Given the description of an element on the screen output the (x, y) to click on. 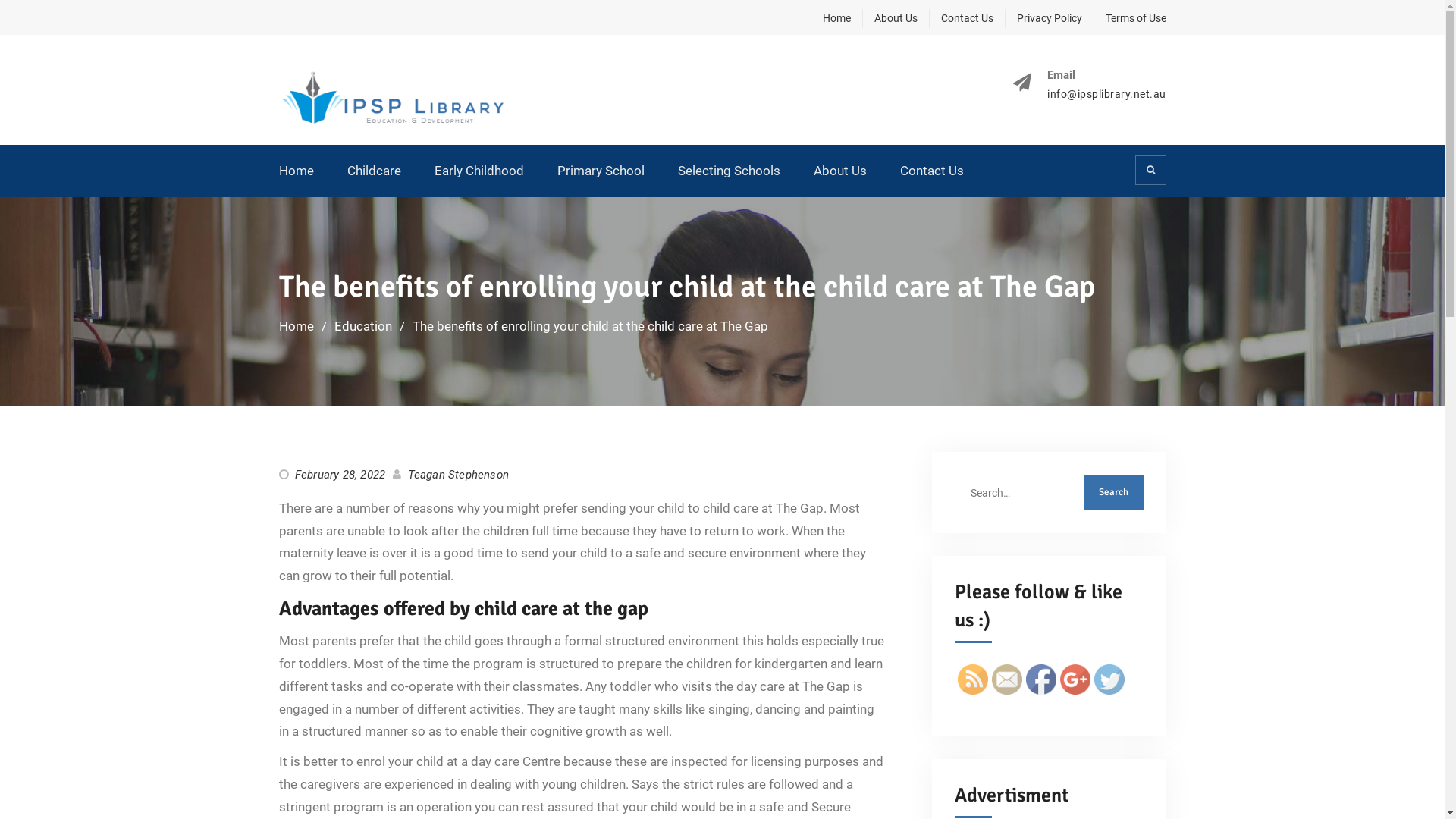
info@ipsplibrary.net.au Element type: text (1106, 93)
Primary School Element type: text (599, 171)
Selecting Schools Element type: text (728, 171)
Google+ Element type: hover (1075, 679)
Teagan Stephenson Element type: text (457, 474)
Childcare Element type: text (374, 171)
Home Element type: text (296, 325)
Privacy Policy Element type: text (1042, 18)
Terms of Use Element type: text (1129, 18)
Contact Us Element type: text (931, 171)
Contact Us Element type: text (960, 18)
About Us Element type: text (888, 18)
Facebook Element type: hover (1040, 679)
Early Childhood Element type: text (478, 171)
About Us Element type: text (839, 171)
February 28, 2022 Element type: text (339, 474)
Home Element type: text (296, 171)
Search Element type: text (1112, 492)
RSS Element type: hover (972, 679)
Search for: Element type: hover (1047, 492)
Twitter Element type: hover (1108, 679)
Home Element type: text (829, 18)
Follow by Email Element type: hover (1006, 679)
Education Element type: text (362, 325)
